Given the description of an element on the screen output the (x, y) to click on. 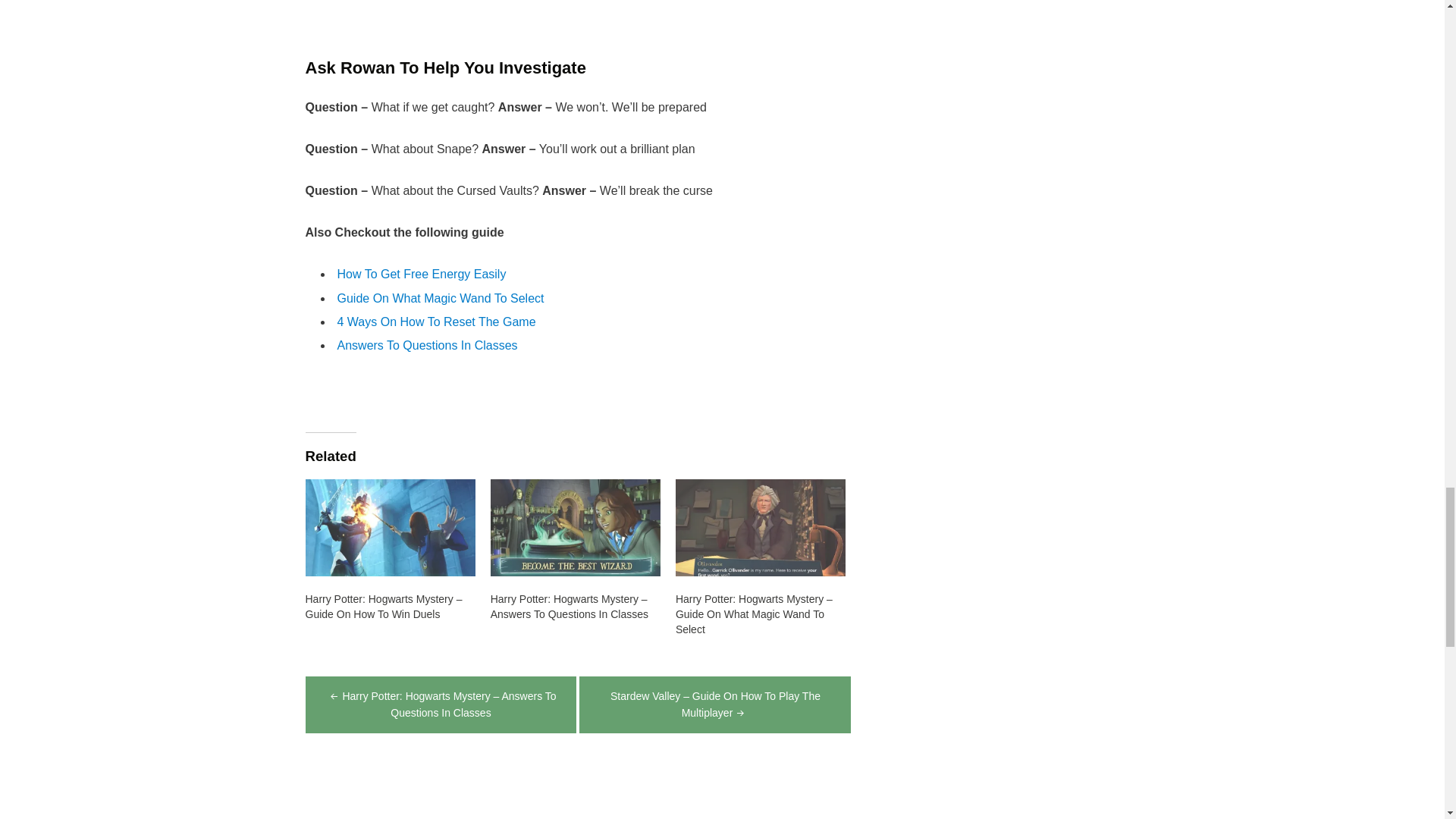
Guide On What Magic Wand To Select (439, 297)
Answers To Questions In Classes (426, 345)
4 Ways On How To Reset The Game (435, 321)
How To Get Free Energy Easily (420, 273)
